Given the description of an element on the screen output the (x, y) to click on. 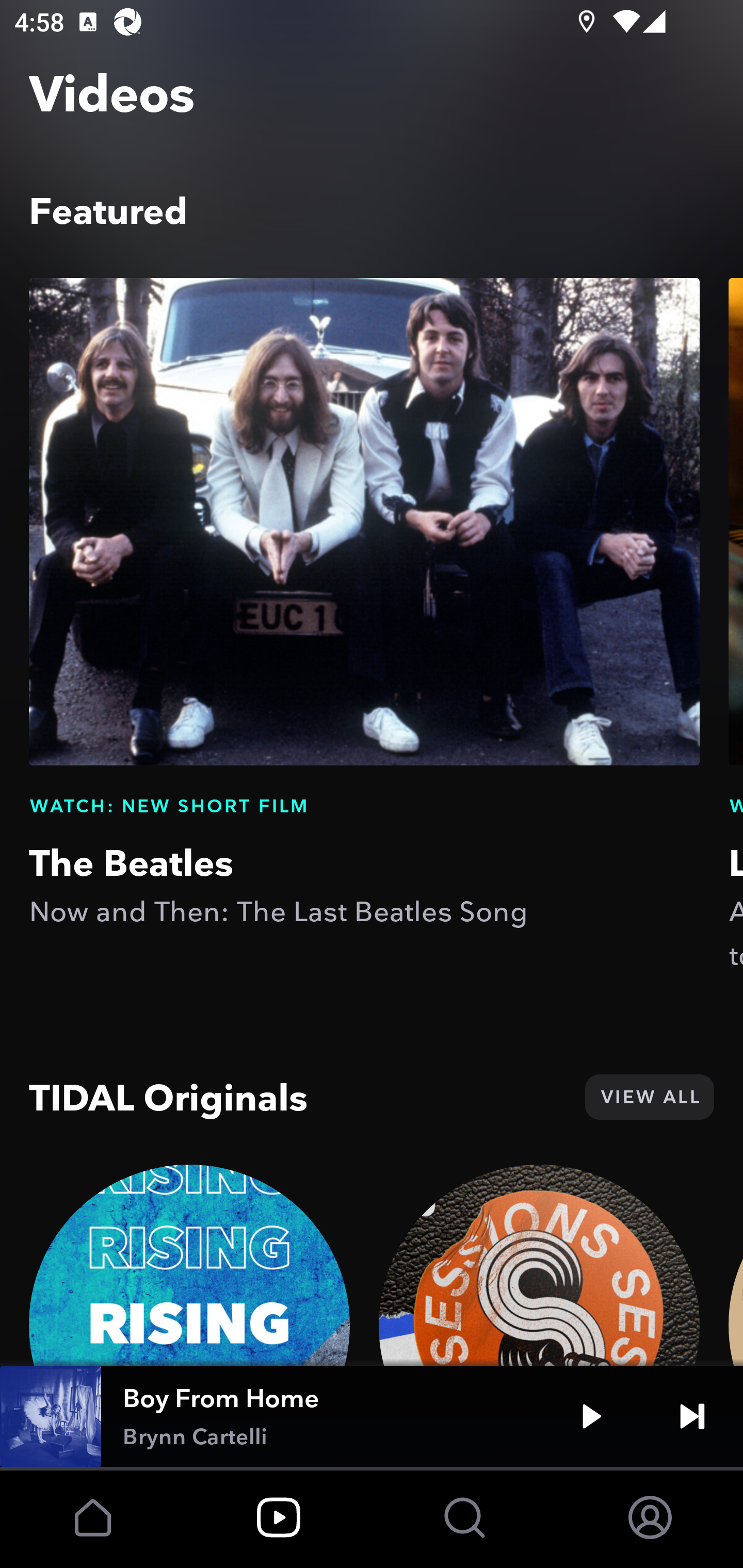
VIEW ALL (649, 1096)
Boy From Home Brynn Cartelli Play (371, 1416)
Play (590, 1416)
